Given the description of an element on the screen output the (x, y) to click on. 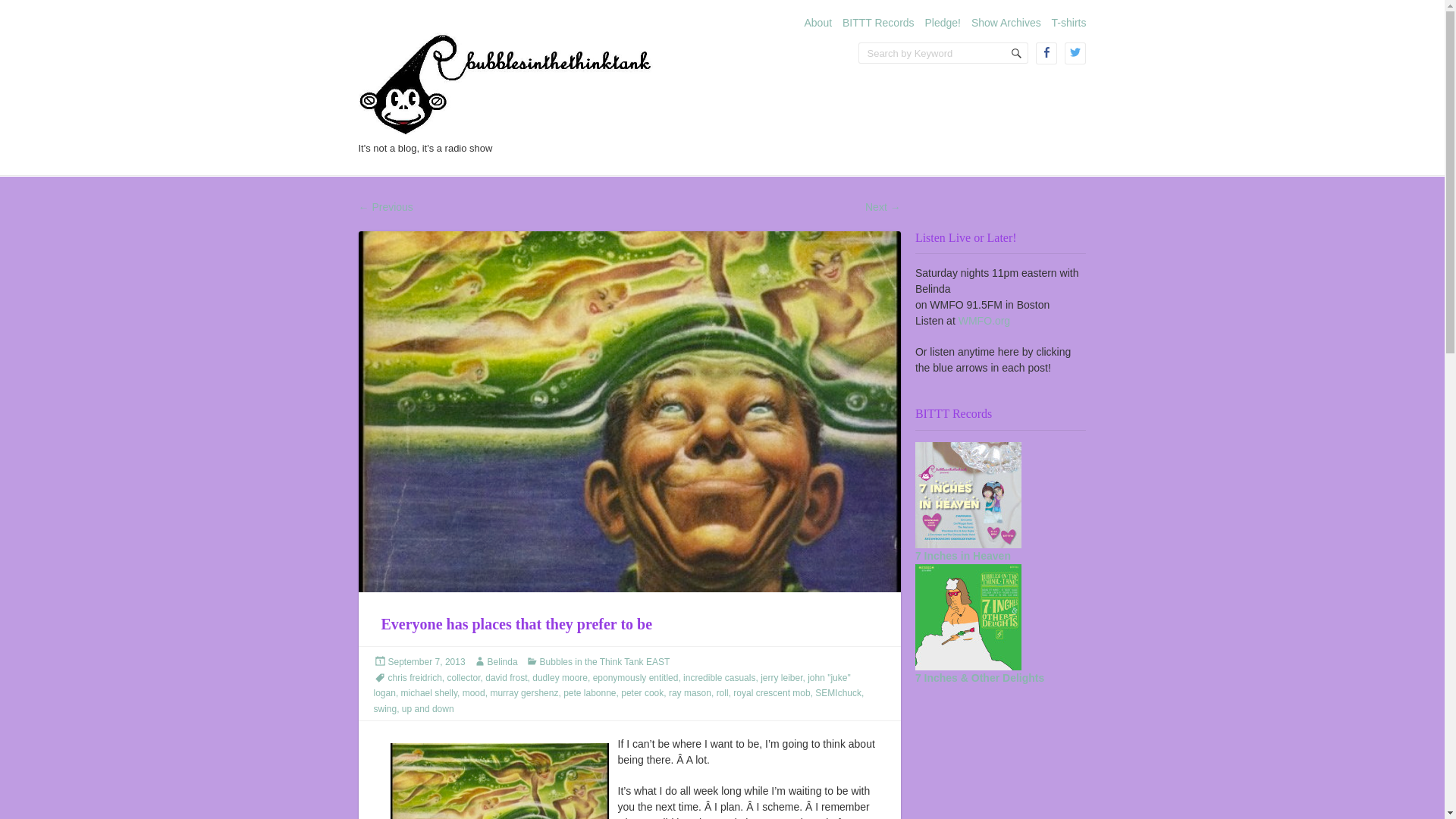
royal crescent mob (771, 692)
eponymously entitled (635, 677)
michael shelly (429, 692)
david frost (505, 677)
swing (384, 708)
10:29 pm (426, 661)
View all posts by Belinda (502, 661)
dudley moore (560, 677)
up and down (427, 708)
collector (463, 677)
incredible casuals (718, 677)
SEMIchuck (838, 692)
Pledge! (942, 22)
chris freidrich (415, 677)
Belinda (502, 661)
